Given the description of an element on the screen output the (x, y) to click on. 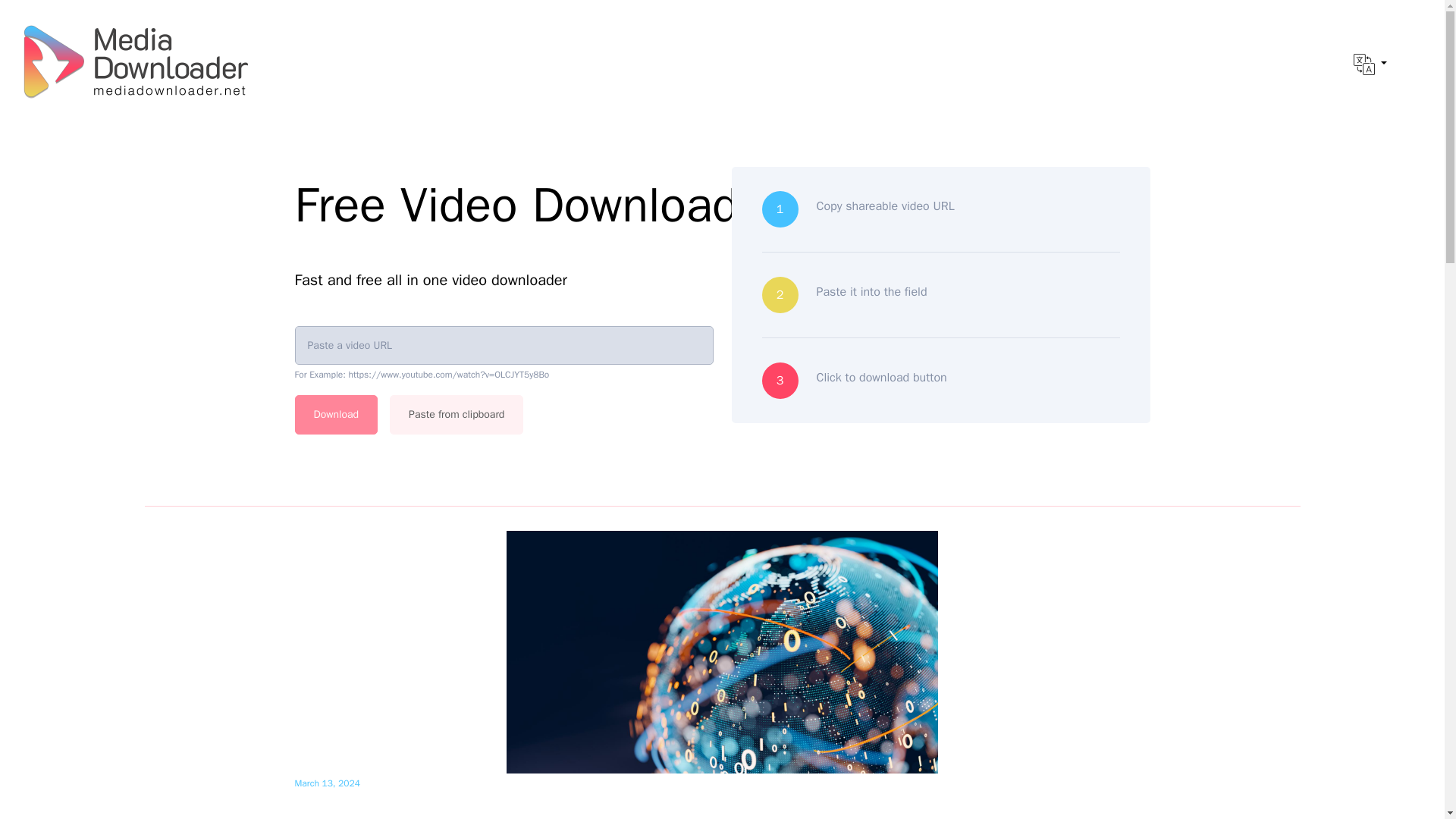
Download (335, 414)
Paste from clipboard (456, 414)
